Given the description of an element on the screen output the (x, y) to click on. 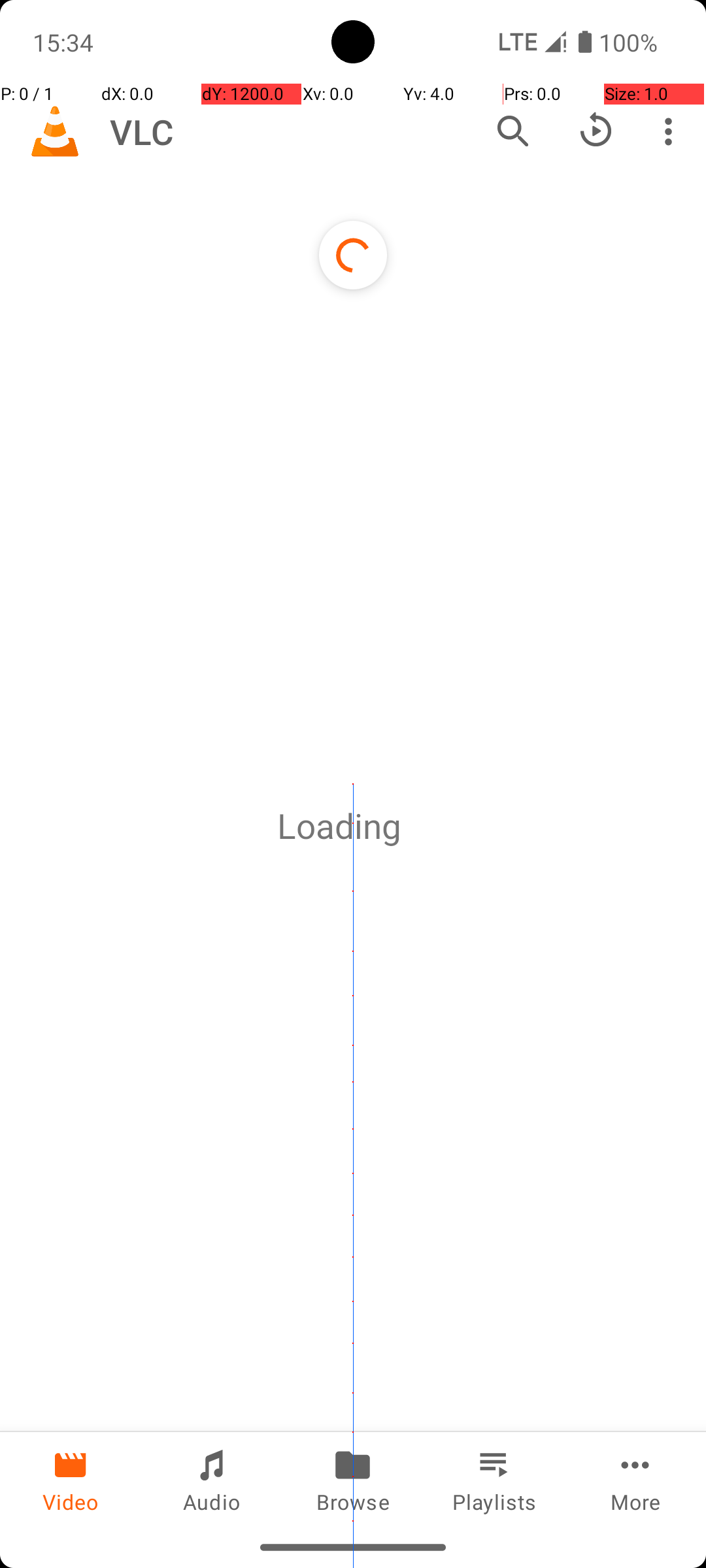
Resume playback Element type: android.widget.TextView (595, 131)
